Given the description of an element on the screen output the (x, y) to click on. 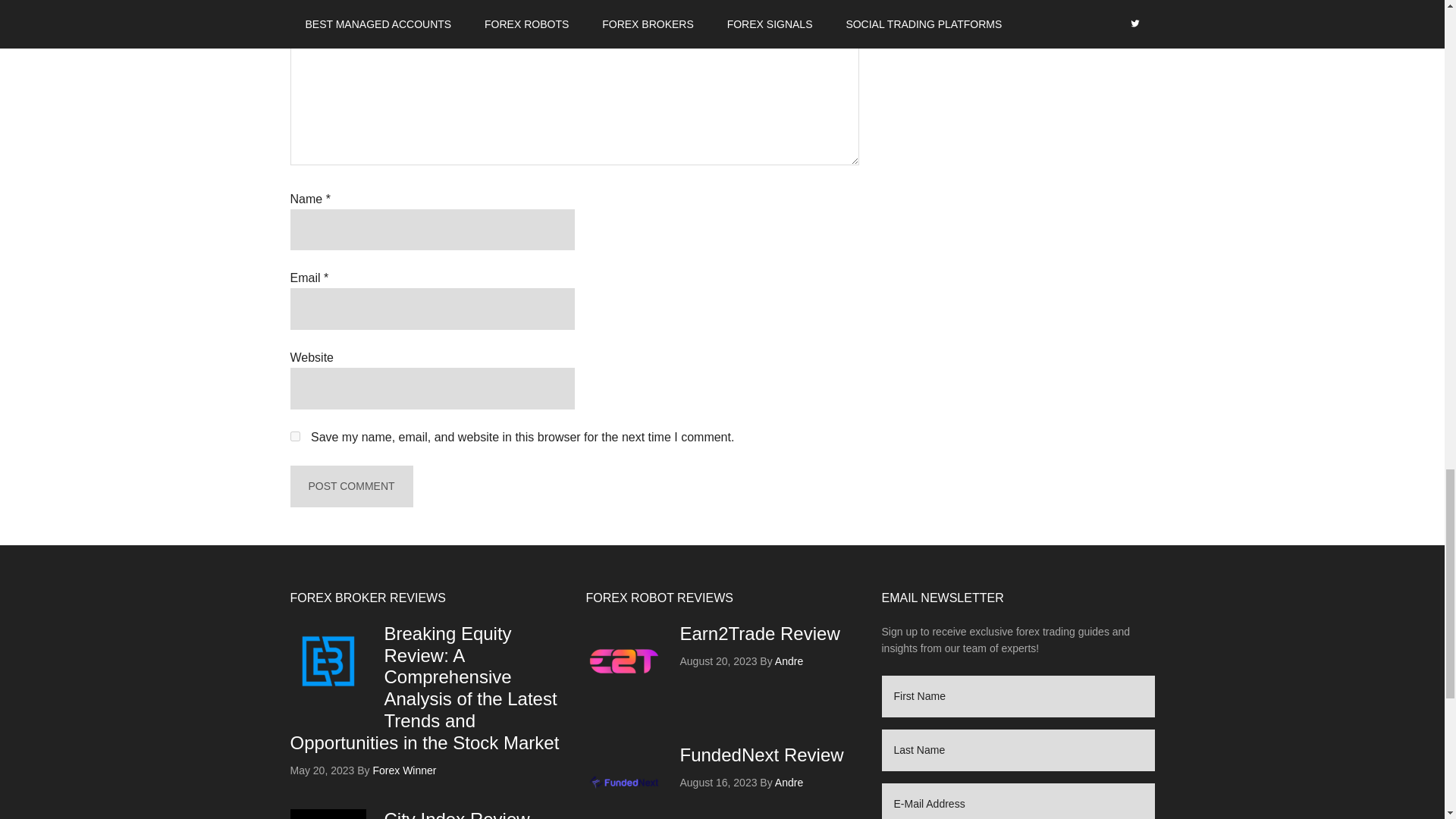
yes (294, 436)
Post Comment (350, 486)
